Given the description of an element on the screen output the (x, y) to click on. 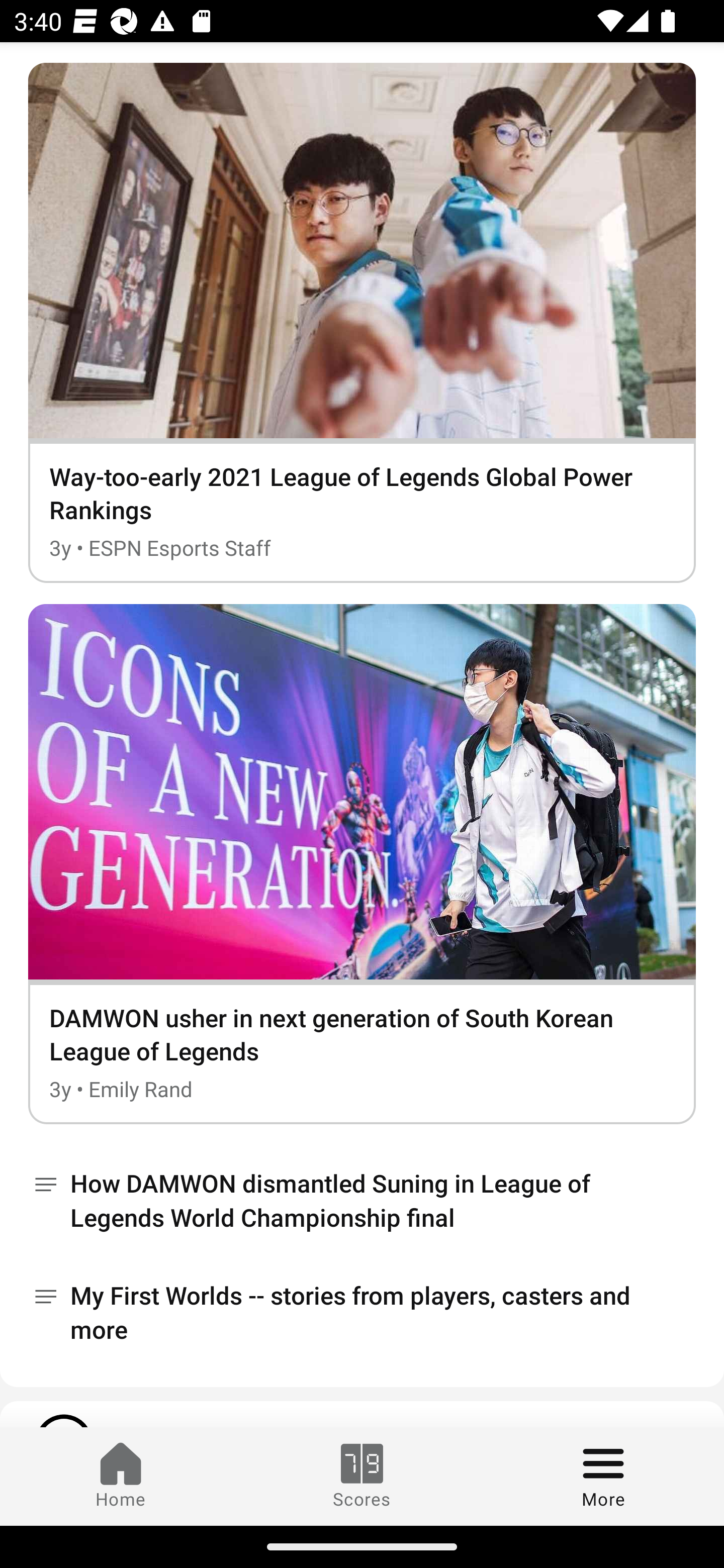
Home (120, 1475)
Scores (361, 1475)
